Given the description of an element on the screen output the (x, y) to click on. 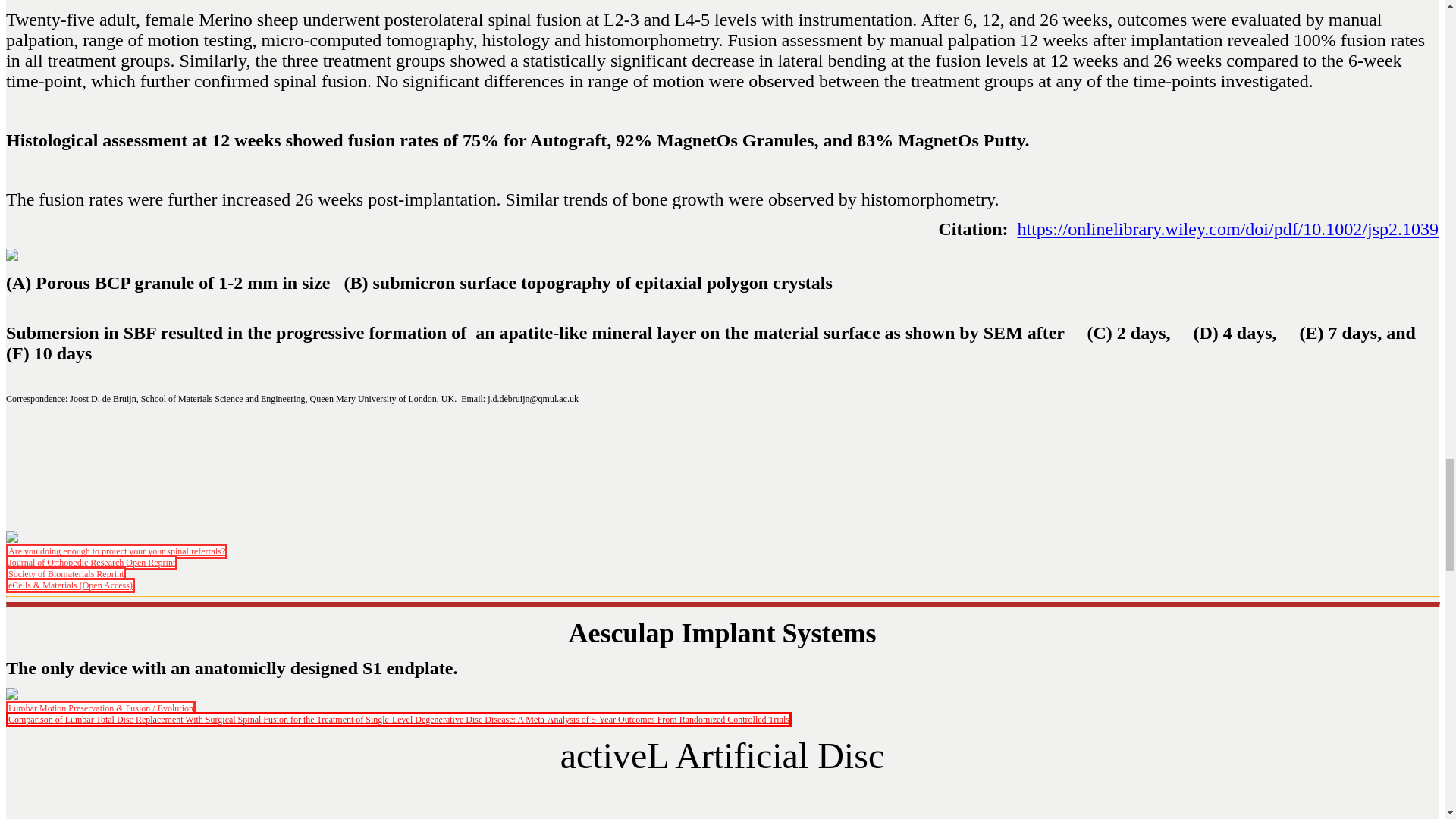
Are you doing enough to protect your your spinal referrals? (116, 550)
Society of Biomaterials Reprint (65, 573)
Journal of Orthopedic Research Open Reprint (91, 562)
